Given the description of an element on the screen output the (x, y) to click on. 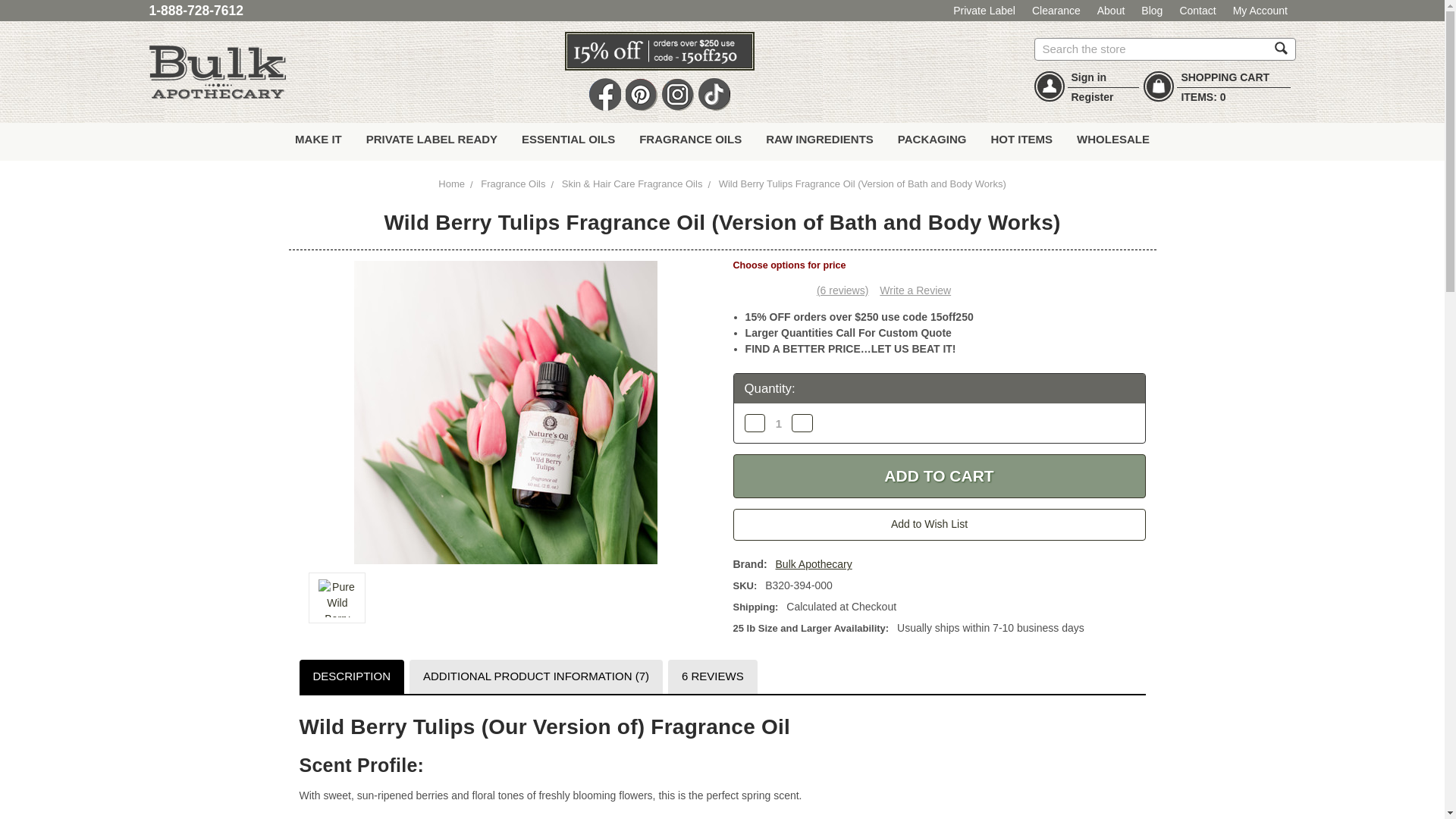
Add to Cart (938, 475)
Clearance (1056, 10)
Register (1091, 96)
Contact (1198, 10)
submit (1281, 48)
Blog (1153, 10)
SHOPPING CART (1224, 77)
My Account (1259, 10)
Pure Wild Berry Tulips Fragrance Oil (504, 412)
1-888-728-7612 (195, 10)
